Given the description of an element on the screen output the (x, y) to click on. 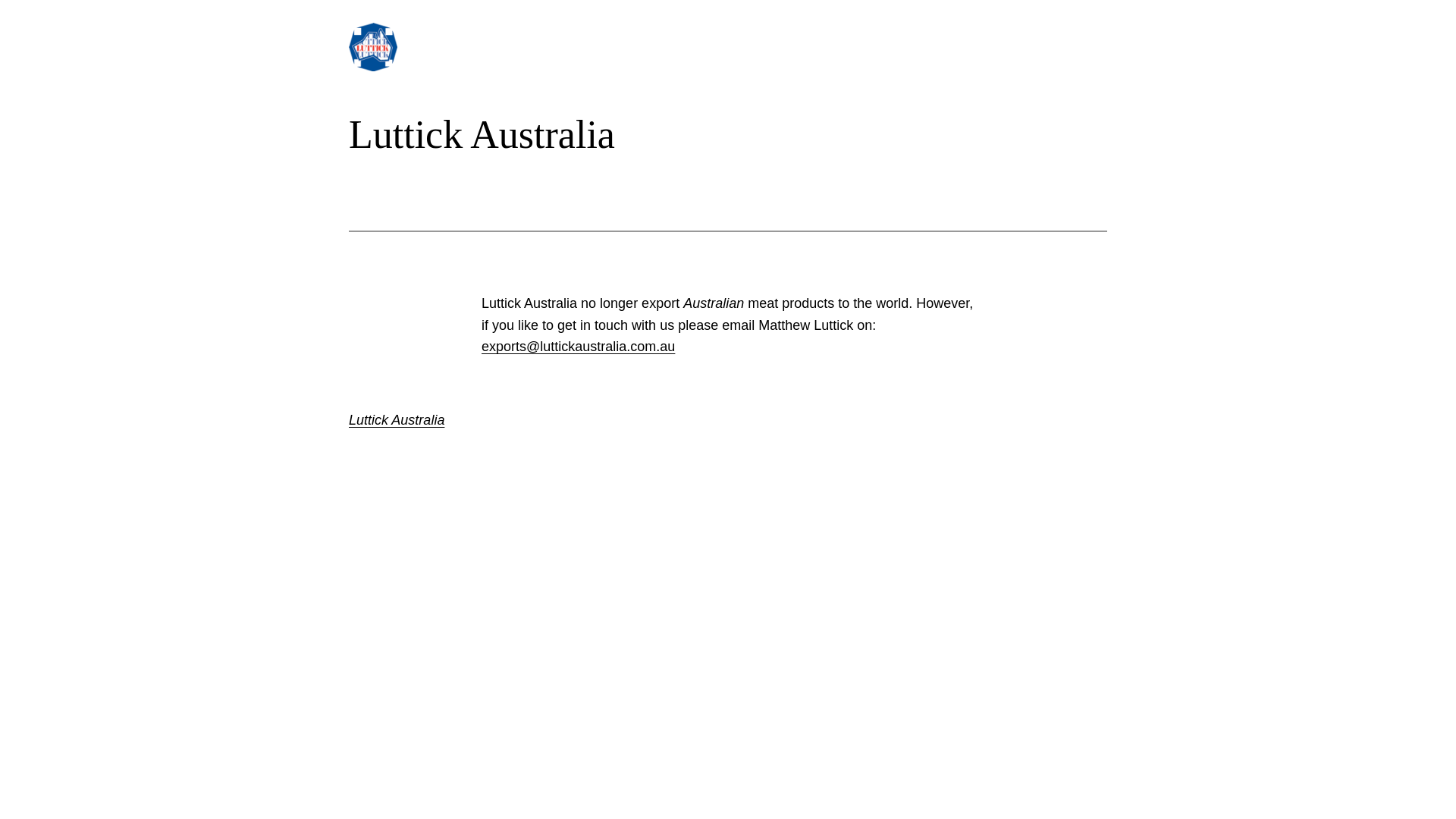
exports@luttickaustralia.com.au Element type: text (577, 346)
Luttick Australia Element type: text (396, 419)
